Given the description of an element on the screen output the (x, y) to click on. 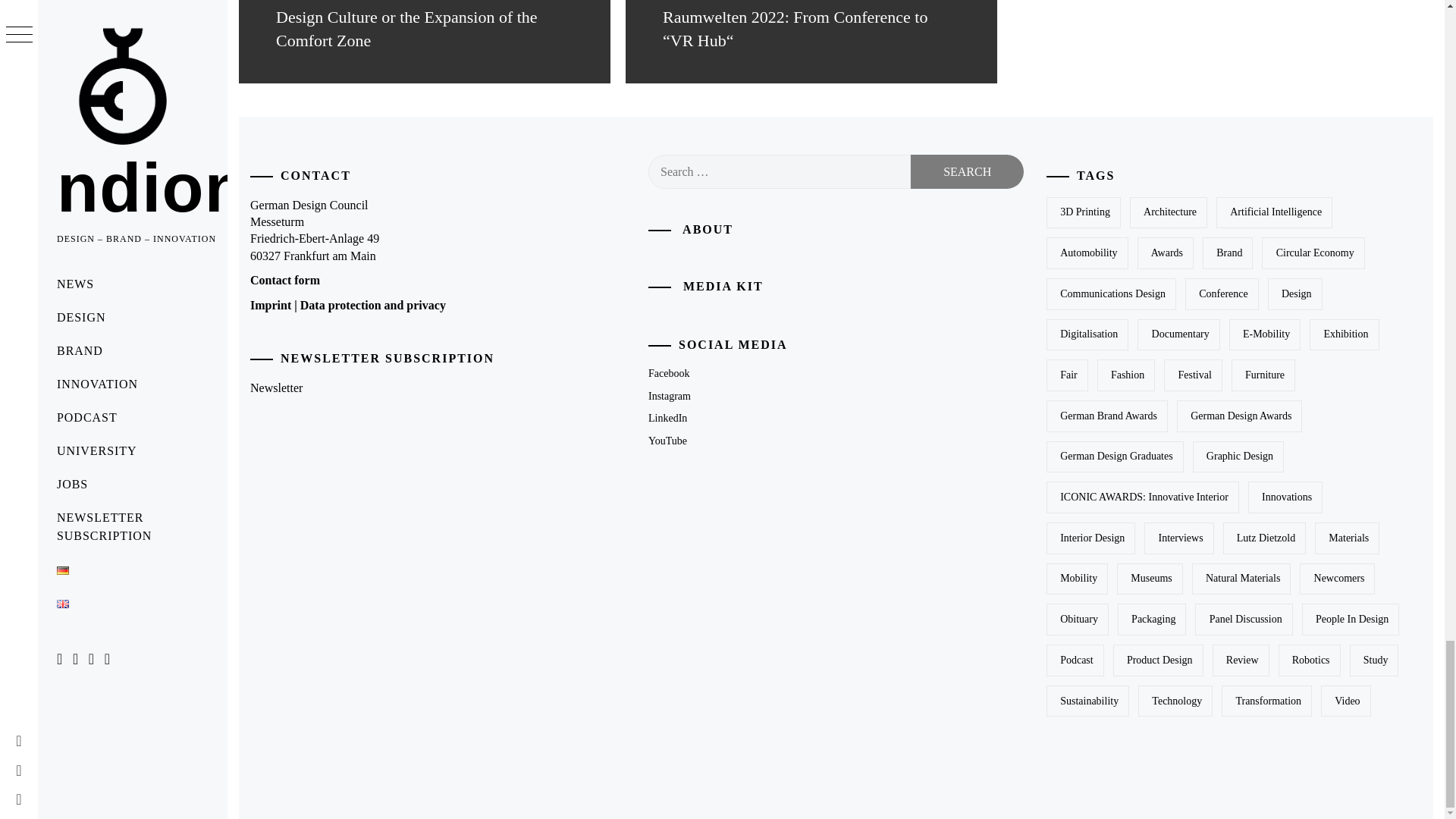
Search (967, 171)
Search (967, 171)
